Given the description of an element on the screen output the (x, y) to click on. 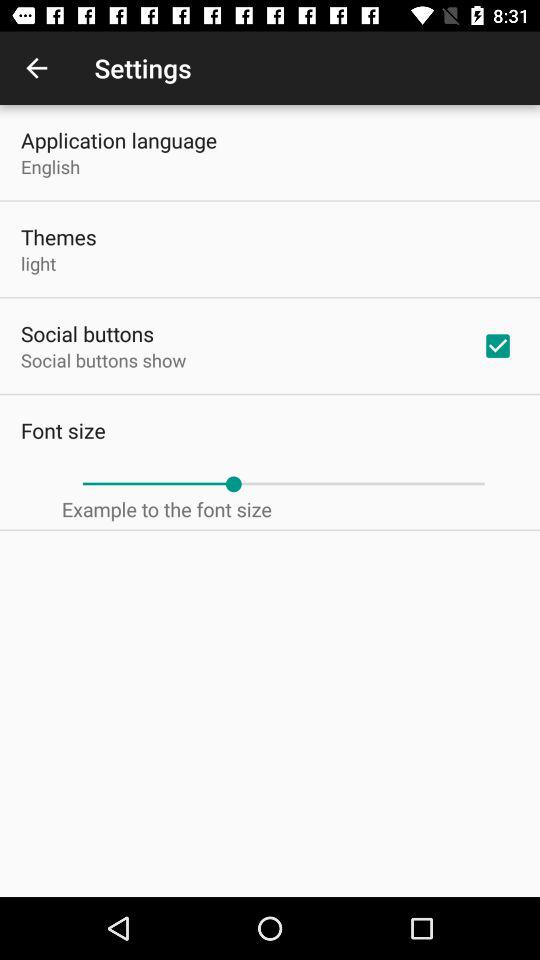
choose item above the application language icon (36, 68)
